Given the description of an element on the screen output the (x, y) to click on. 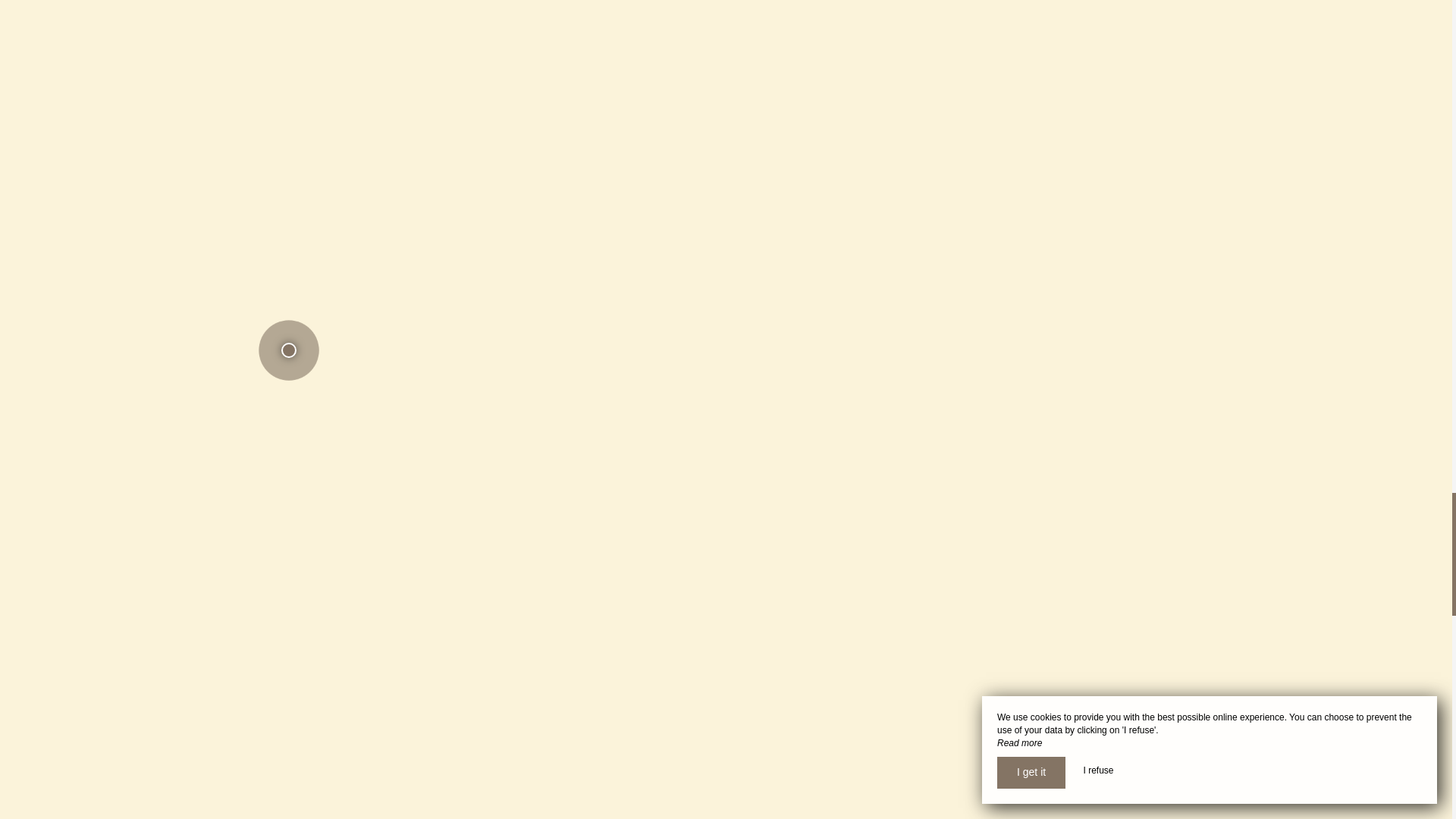
06 63 39 38 44 (87, 817)
